Given the description of an element on the screen output the (x, y) to click on. 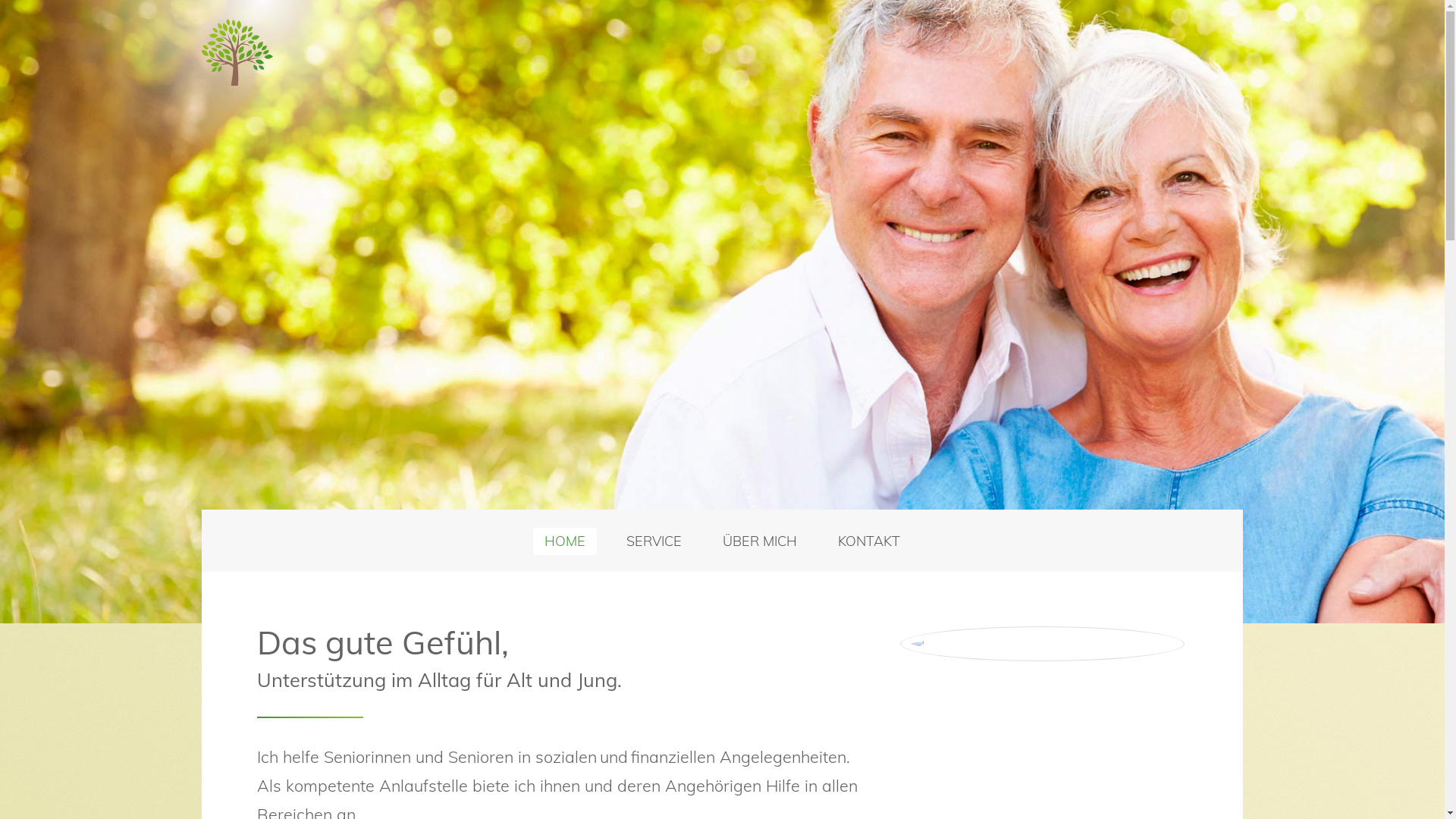
KONTAKT Element type: text (868, 541)
HOME Element type: text (564, 541)
SERVICE Element type: text (654, 541)
